Given the description of an element on the screen output the (x, y) to click on. 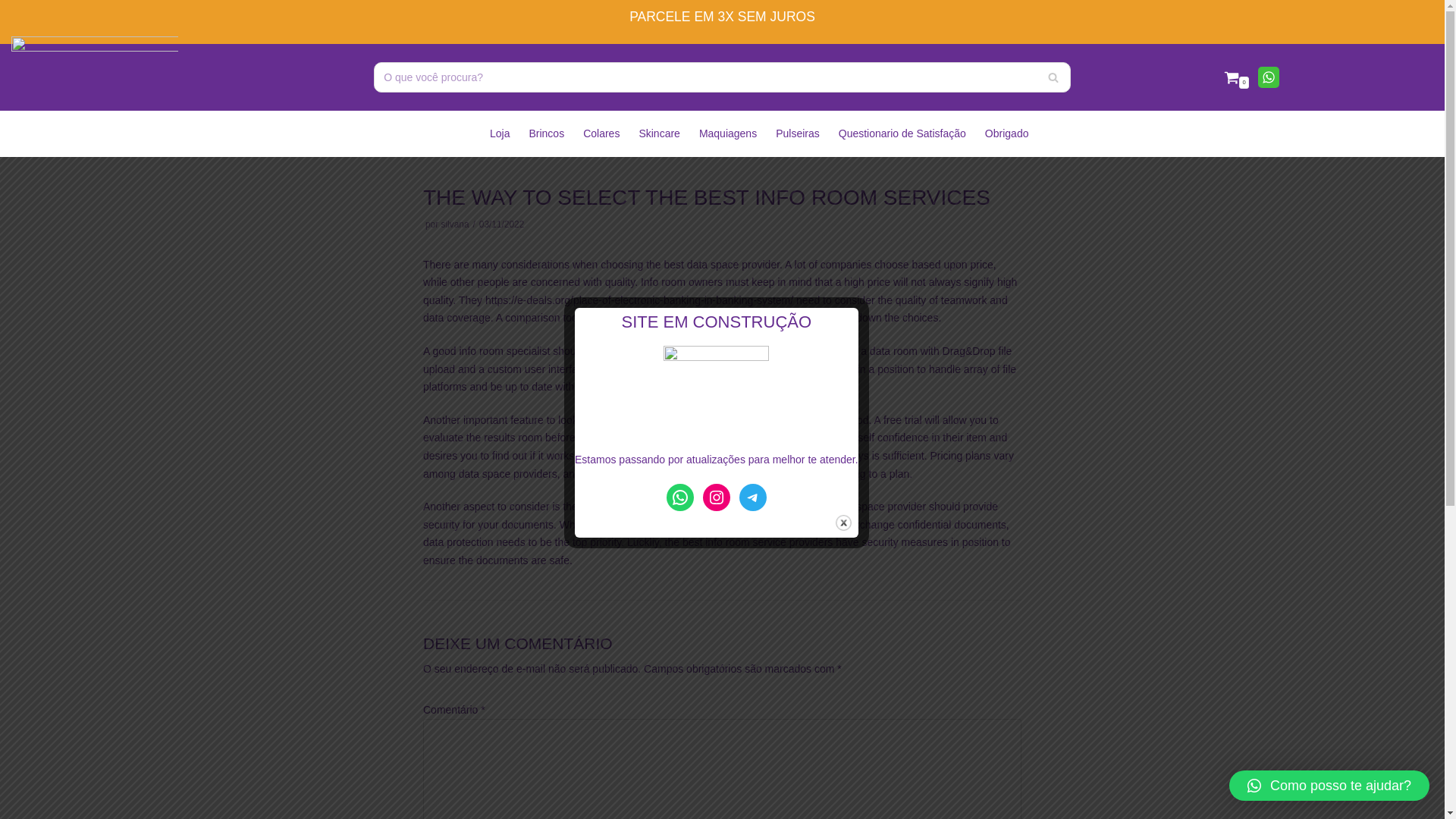
Maquiagens (727, 133)
Brincos (546, 133)
silvana (454, 224)
Posts de silvana (454, 224)
Biju Glamour (94, 76)
Pulseiras (797, 133)
WhatsApp (1268, 76)
Colares (601, 133)
0 (1235, 77)
Loja (499, 133)
